Given the description of an element on the screen output the (x, y) to click on. 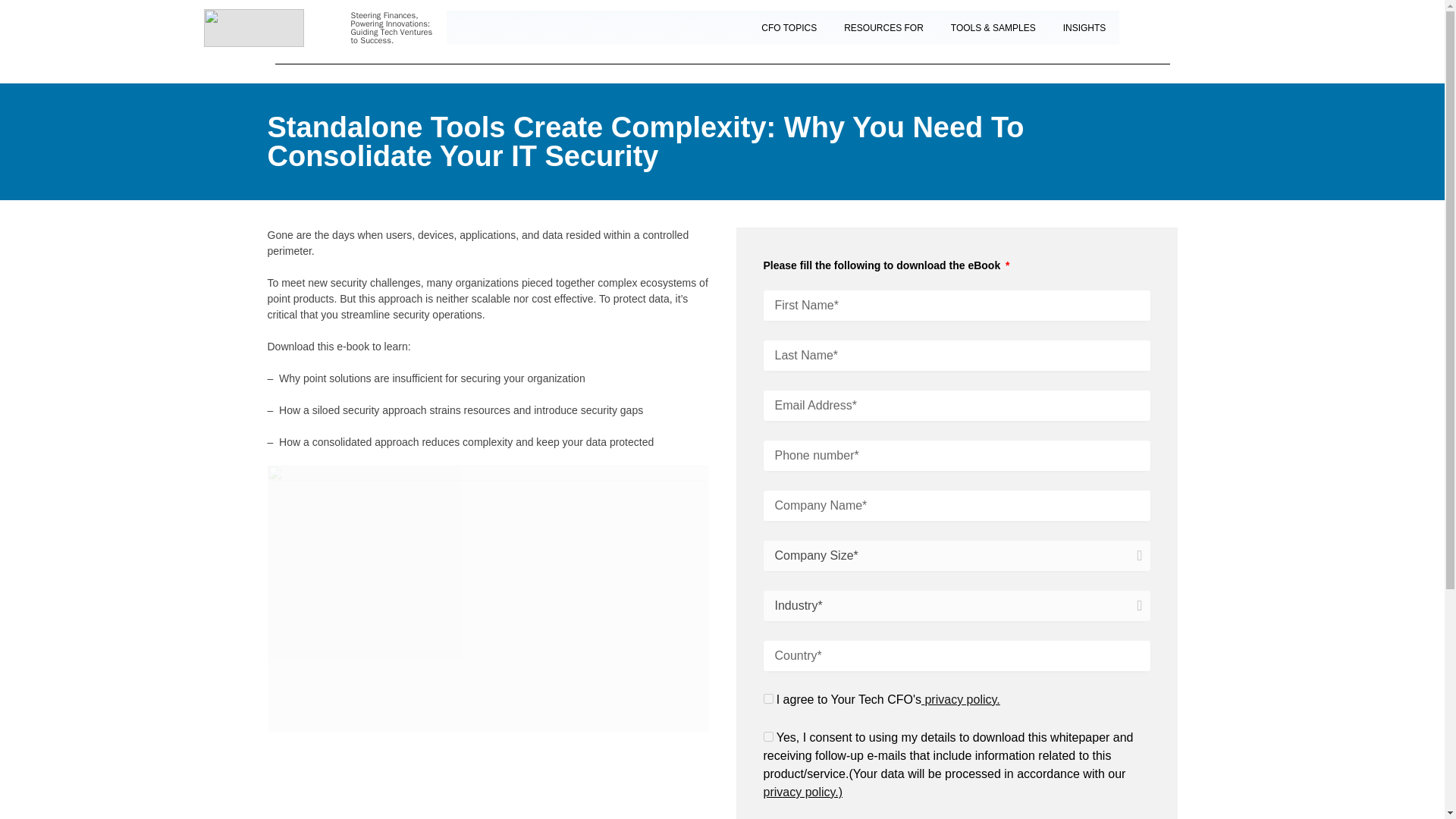
INSIGHTS (1084, 27)
on (767, 737)
on (767, 698)
CFO TOPICS (788, 27)
RESOURCES FOR (883, 27)
